Given the description of an element on the screen output the (x, y) to click on. 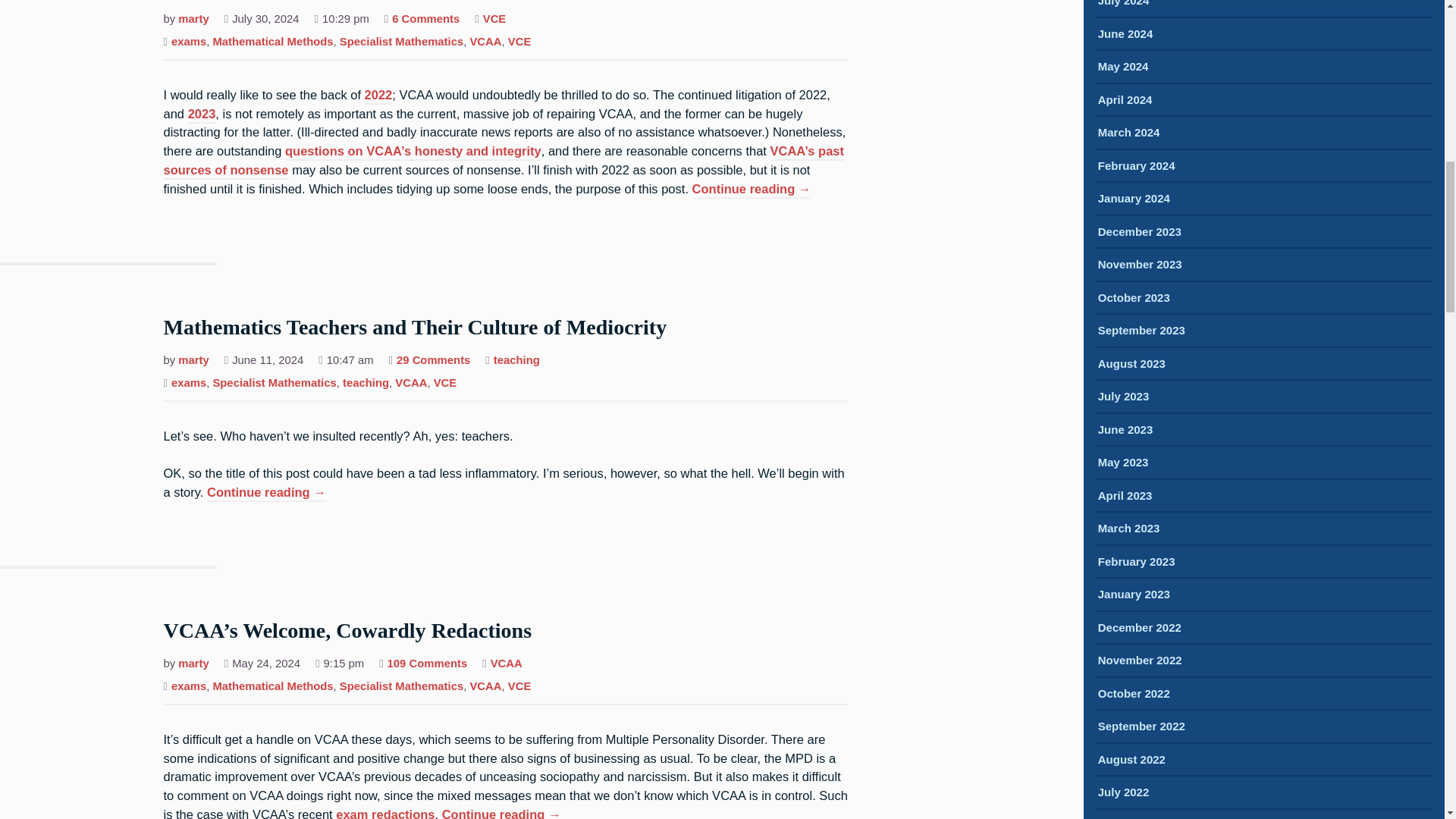
VCE (494, 20)
Posts by marty (192, 664)
Mathematical Methods (272, 43)
Posts by marty (192, 361)
Specialist Mathematics (401, 43)
2023 (201, 115)
marty (192, 20)
VCE (519, 43)
